Given the description of an element on the screen output the (x, y) to click on. 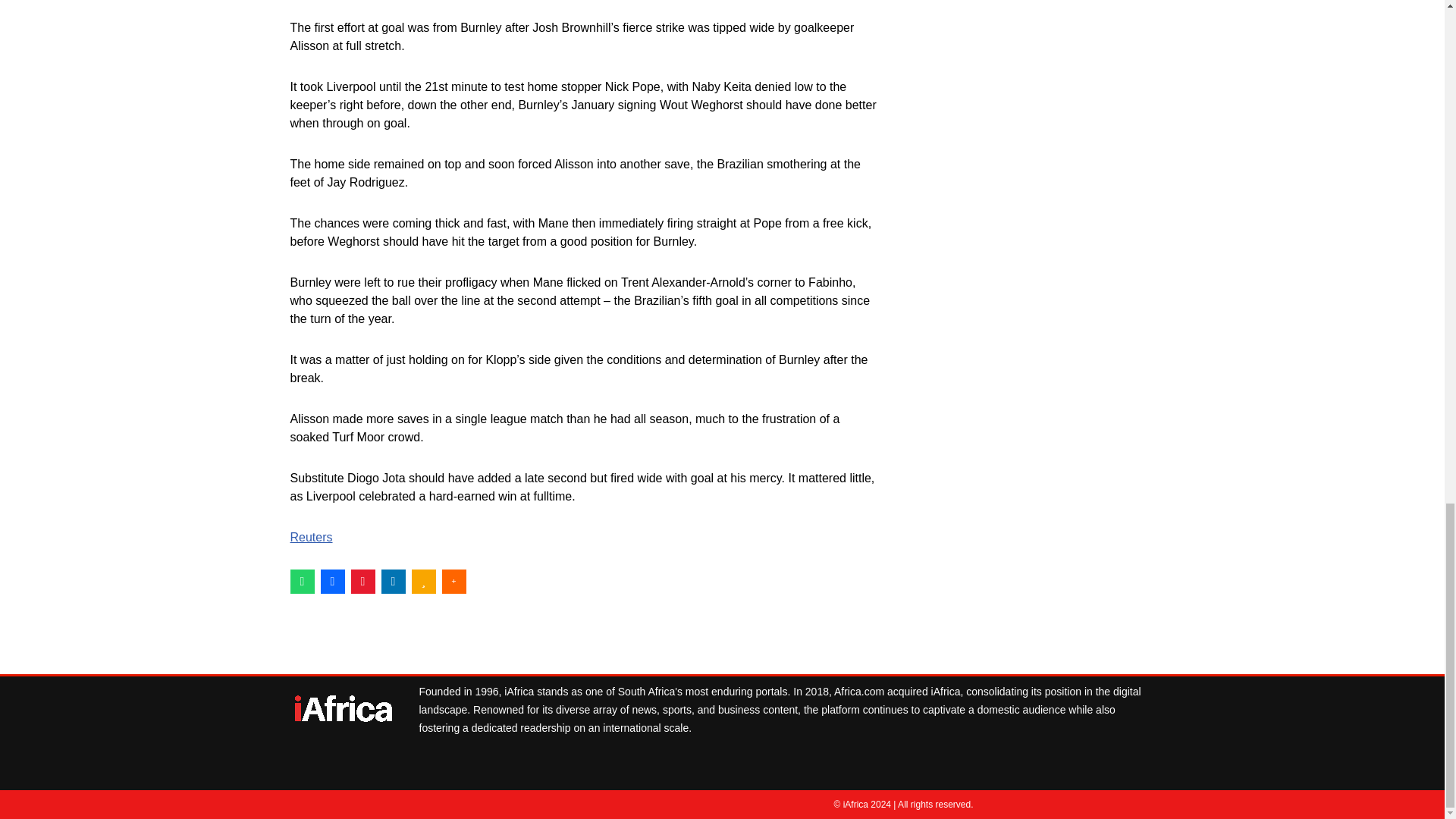
WhatsApp (301, 581)
Share this on Facebook (331, 581)
Add to favorites (422, 581)
Convert to PDF (362, 581)
Reuters (310, 536)
Add this to LinkedIn (392, 581)
More share links (453, 581)
